Given the description of an element on the screen output the (x, y) to click on. 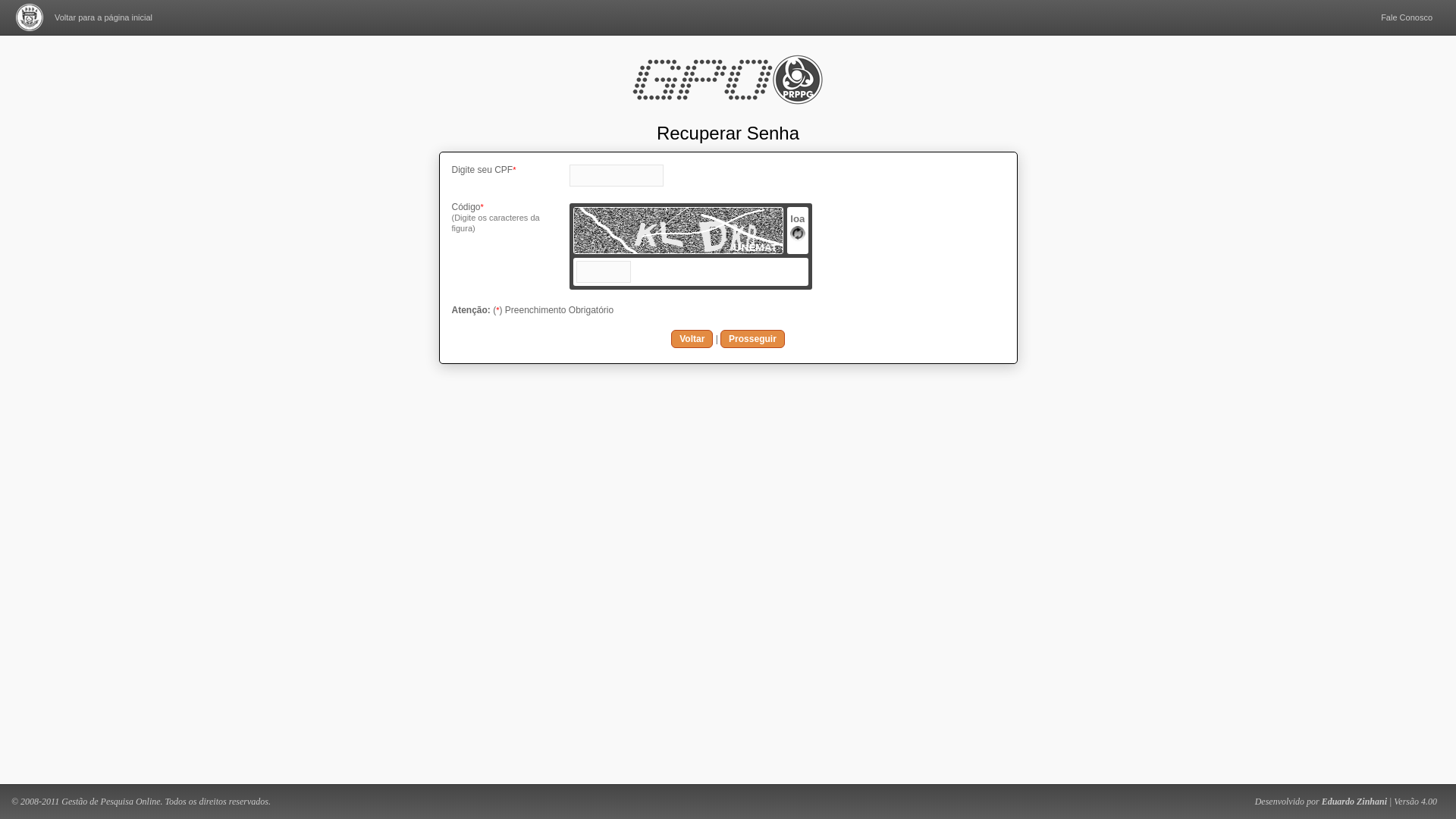
Voltar Element type: text (691, 338)
Universidade do Estado de Mato Grosso Element type: hover (29, 17)
Fale Conosco Element type: text (1406, 16)
Eduardo Zinhani Element type: text (1353, 801)
Voltar Element type: hover (691, 338)
Recarregar Imagem Element type: hover (797, 237)
Prosseguir Element type: text (752, 338)
Prosseguir Element type: hover (752, 338)
